Given the description of an element on the screen output the (x, y) to click on. 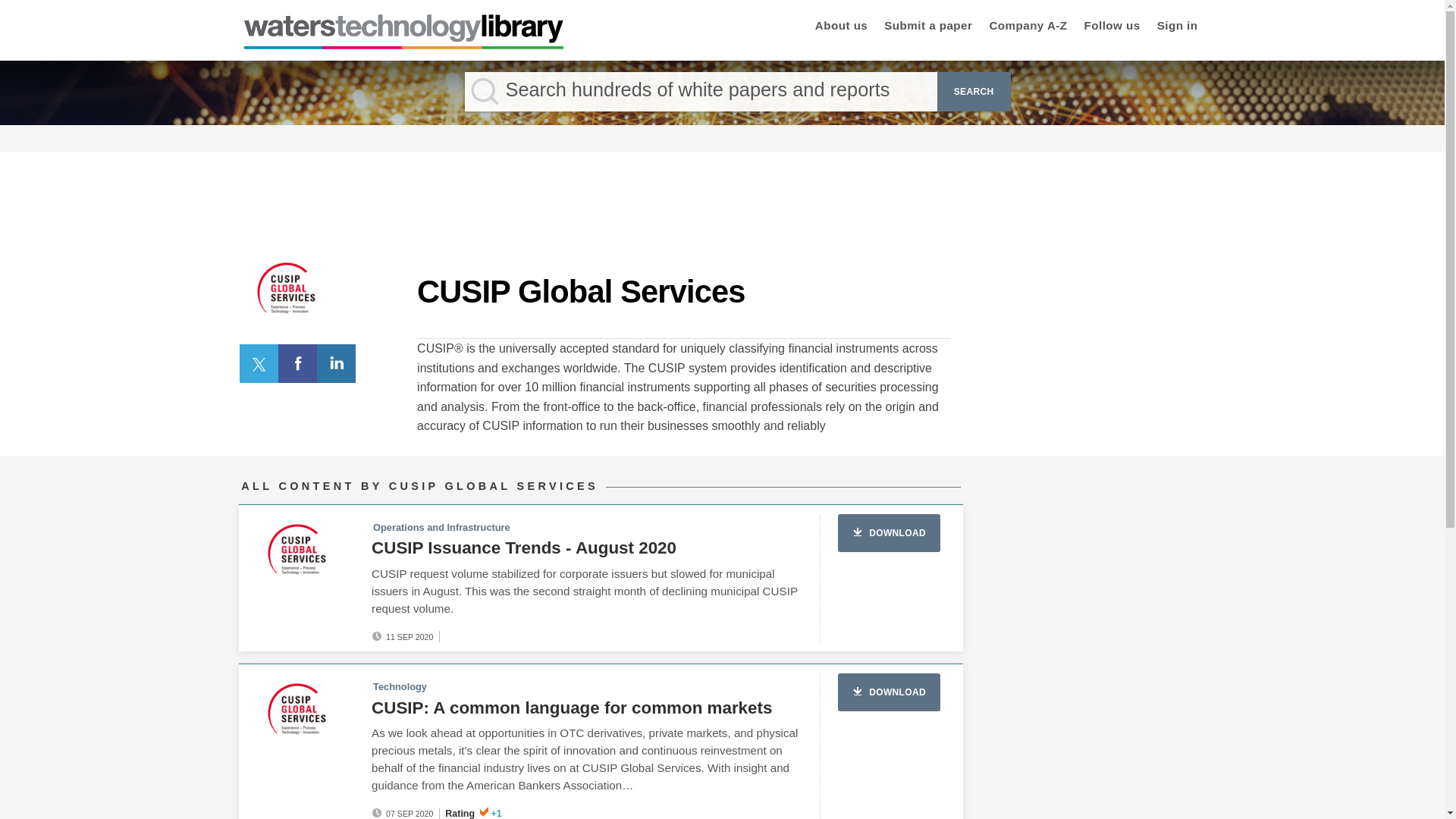
Follow us (1112, 27)
Search (973, 91)
Follow us (1112, 27)
Return to homepage (403, 44)
Sign in (1376, 281)
Tweet (259, 362)
Submit a paper (927, 27)
LinkedIn (336, 362)
